Given the description of an element on the screen output the (x, y) to click on. 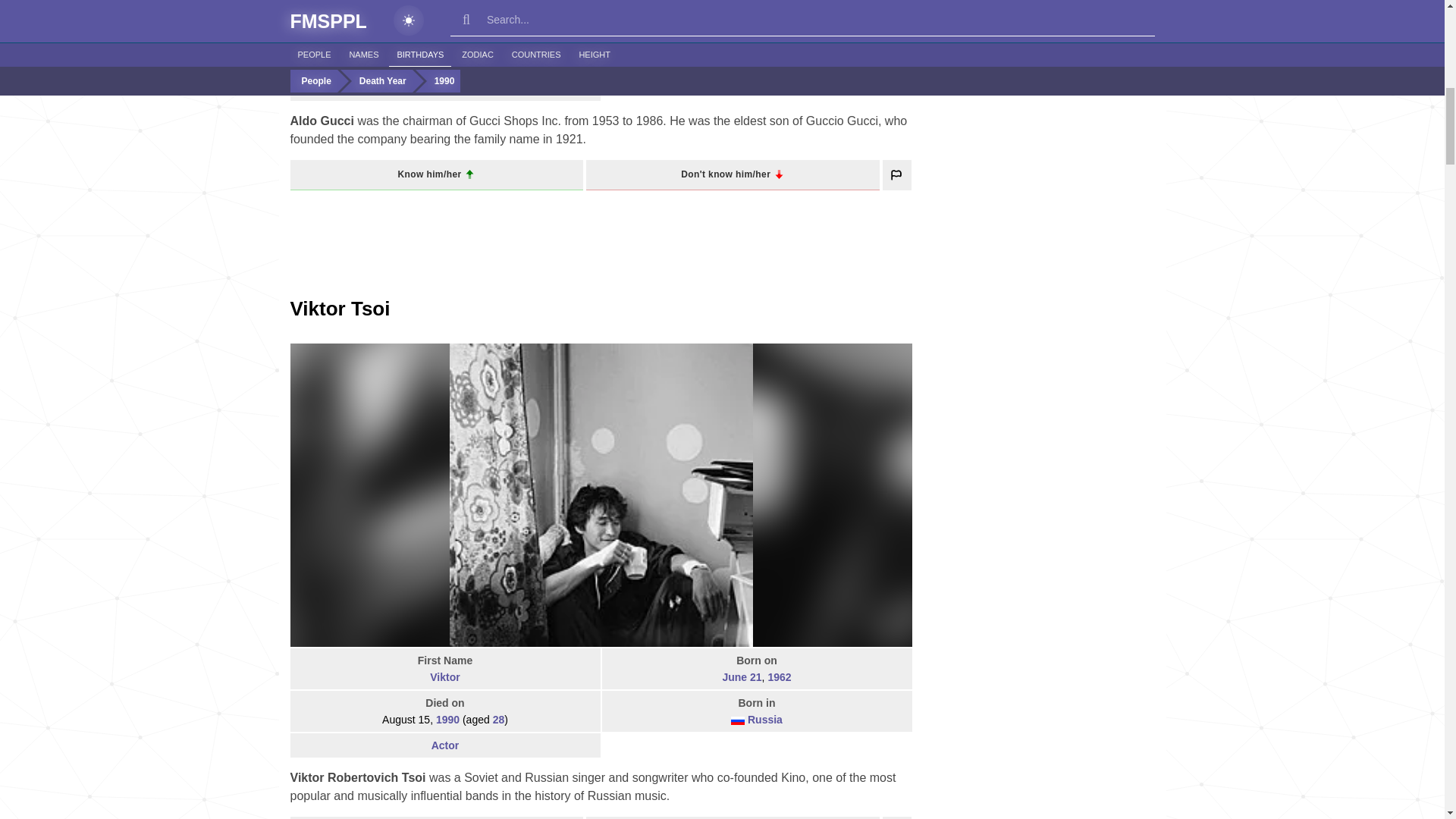
Russia (737, 720)
Tuscany (466, 88)
1990 (761, 46)
June 21 (741, 676)
1905 (465, 46)
28 (499, 719)
1962 (778, 676)
Russia (765, 719)
Aldo (444, 6)
Italy (429, 88)
